Given the description of an element on the screen output the (x, y) to click on. 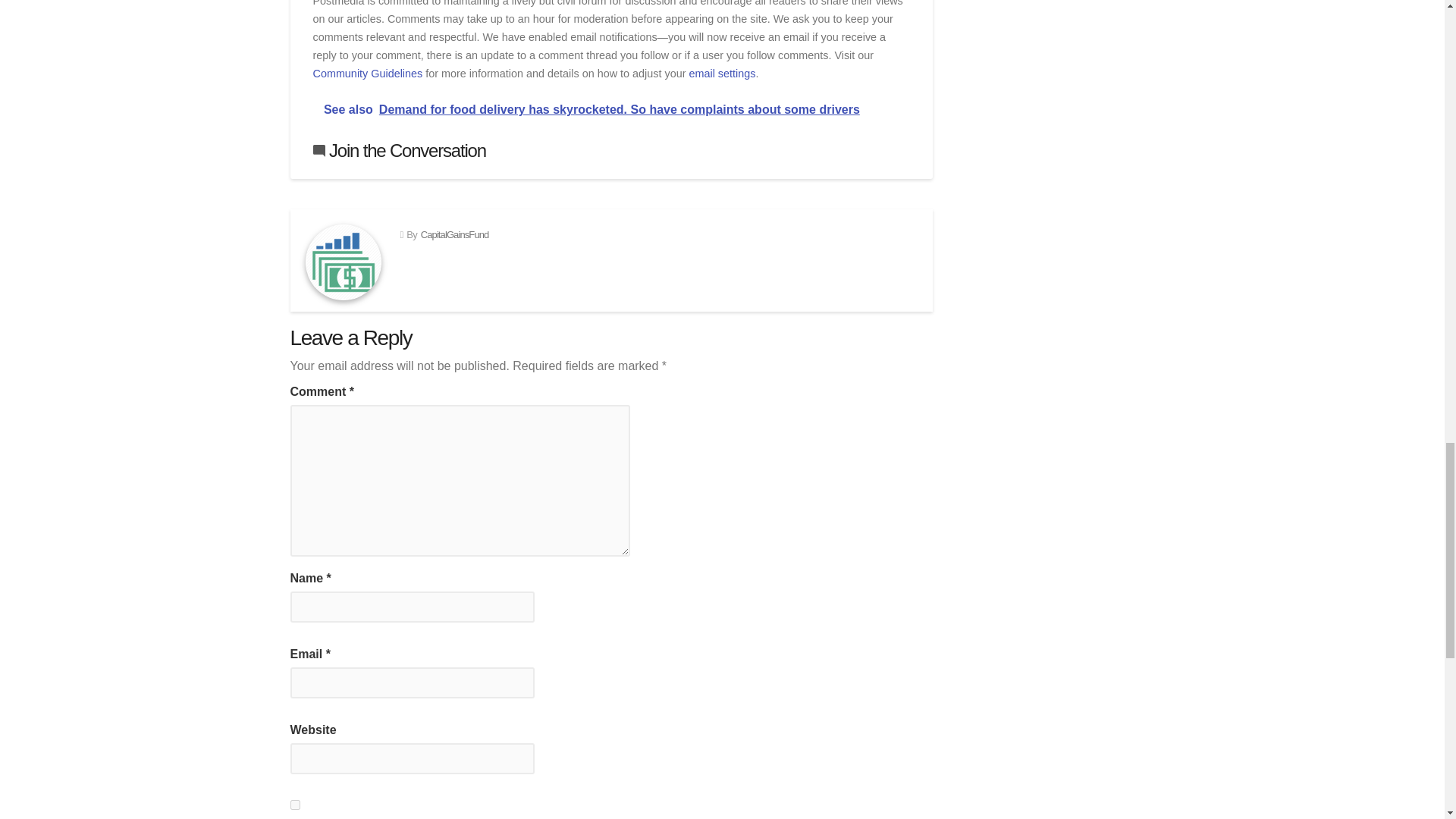
Community Guidelines (367, 73)
email settings (721, 73)
CapitalGainsFund (454, 234)
yes (294, 804)
